Given the description of an element on the screen output the (x, y) to click on. 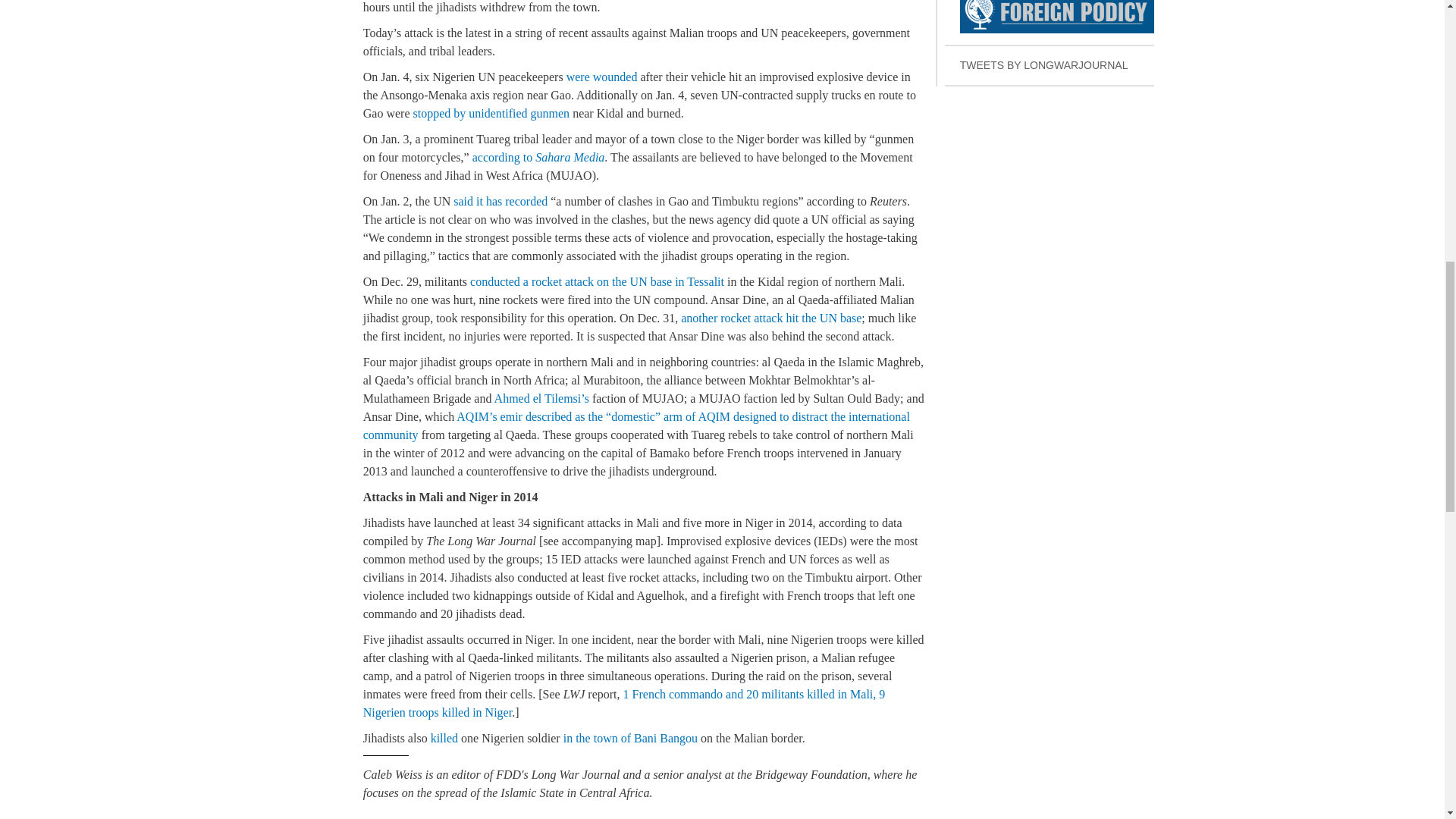
TWEETS BY LONGWARJOURNAL (1049, 65)
were wounded (601, 76)
another rocket attack hit the UN base (771, 318)
according to Sahara Media (538, 156)
stopped by unidentified gunmen (490, 113)
killed (444, 738)
conducted a rocket attack on the UN base in Tessalit (596, 281)
in the town of Bani Bangou (630, 738)
said it has recorded (1049, 22)
